Given the description of an element on the screen output the (x, y) to click on. 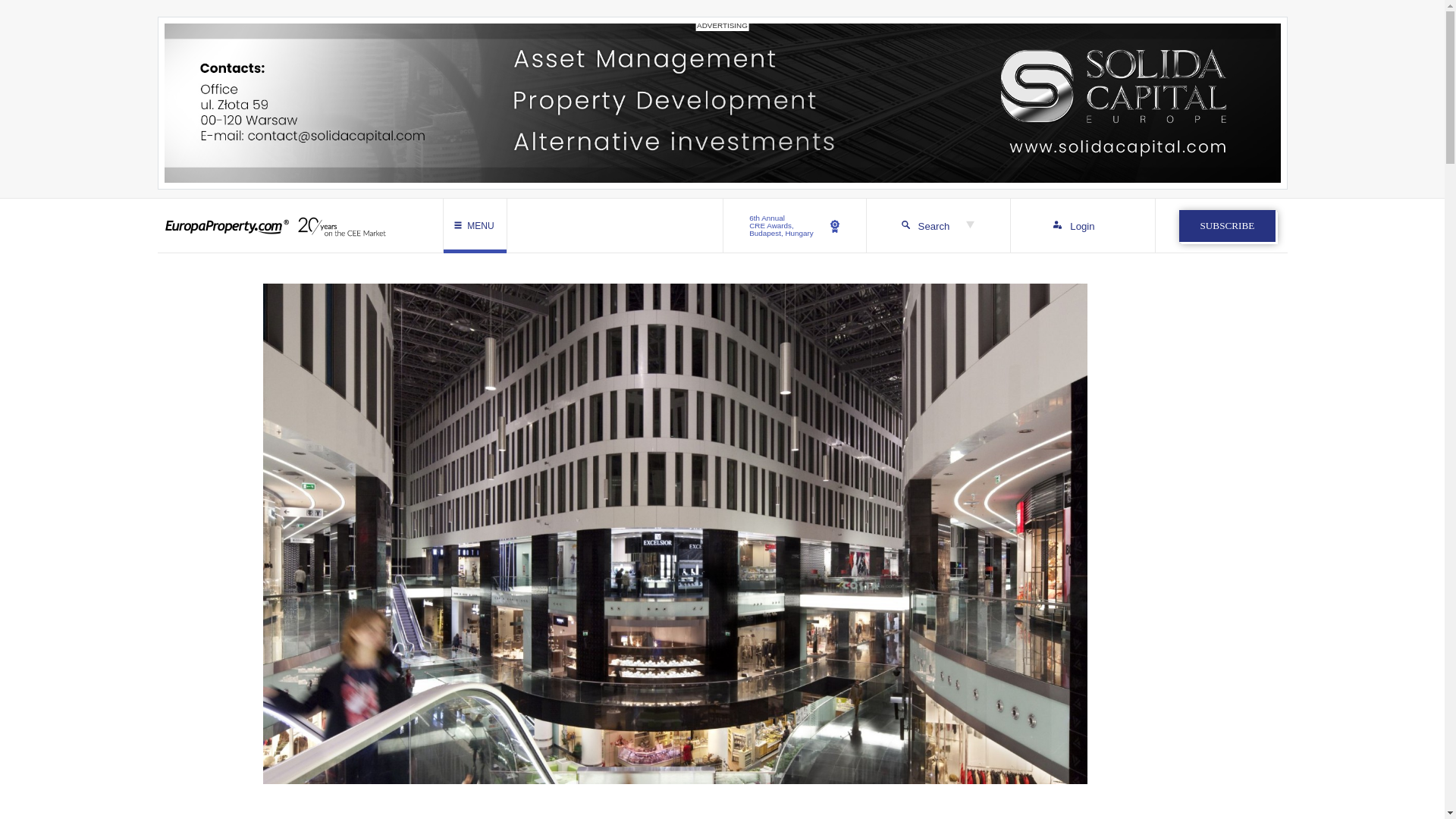
Login (794, 226)
SUBSCRIBE (1082, 226)
